Given the description of an element on the screen output the (x, y) to click on. 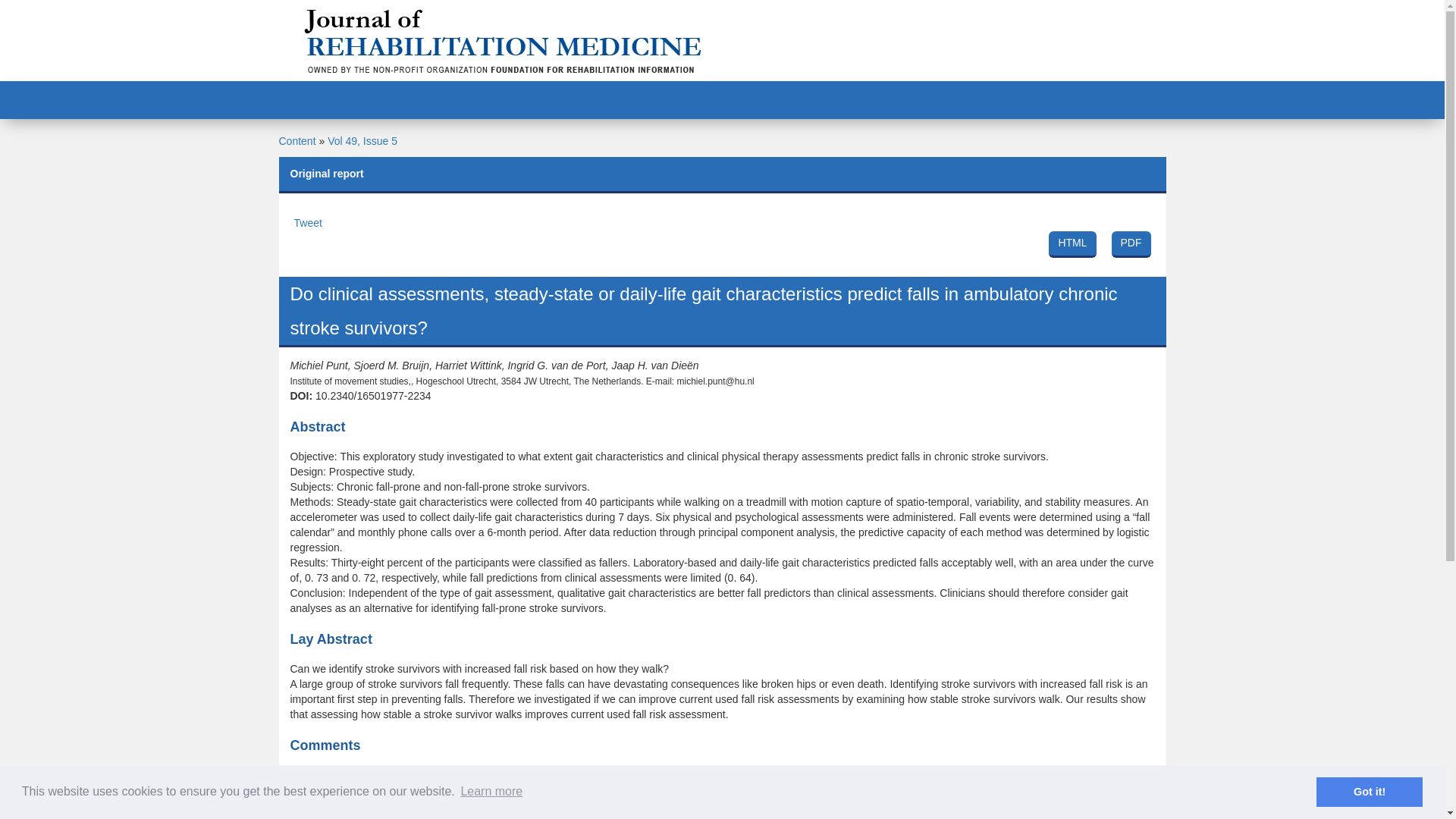
Got it! (1369, 791)
Vol 49, Issue 5 (362, 141)
Tweet (307, 223)
PDF (1131, 243)
Learn more (491, 791)
Content (297, 141)
HTML (1072, 243)
